Given the description of an element on the screen output the (x, y) to click on. 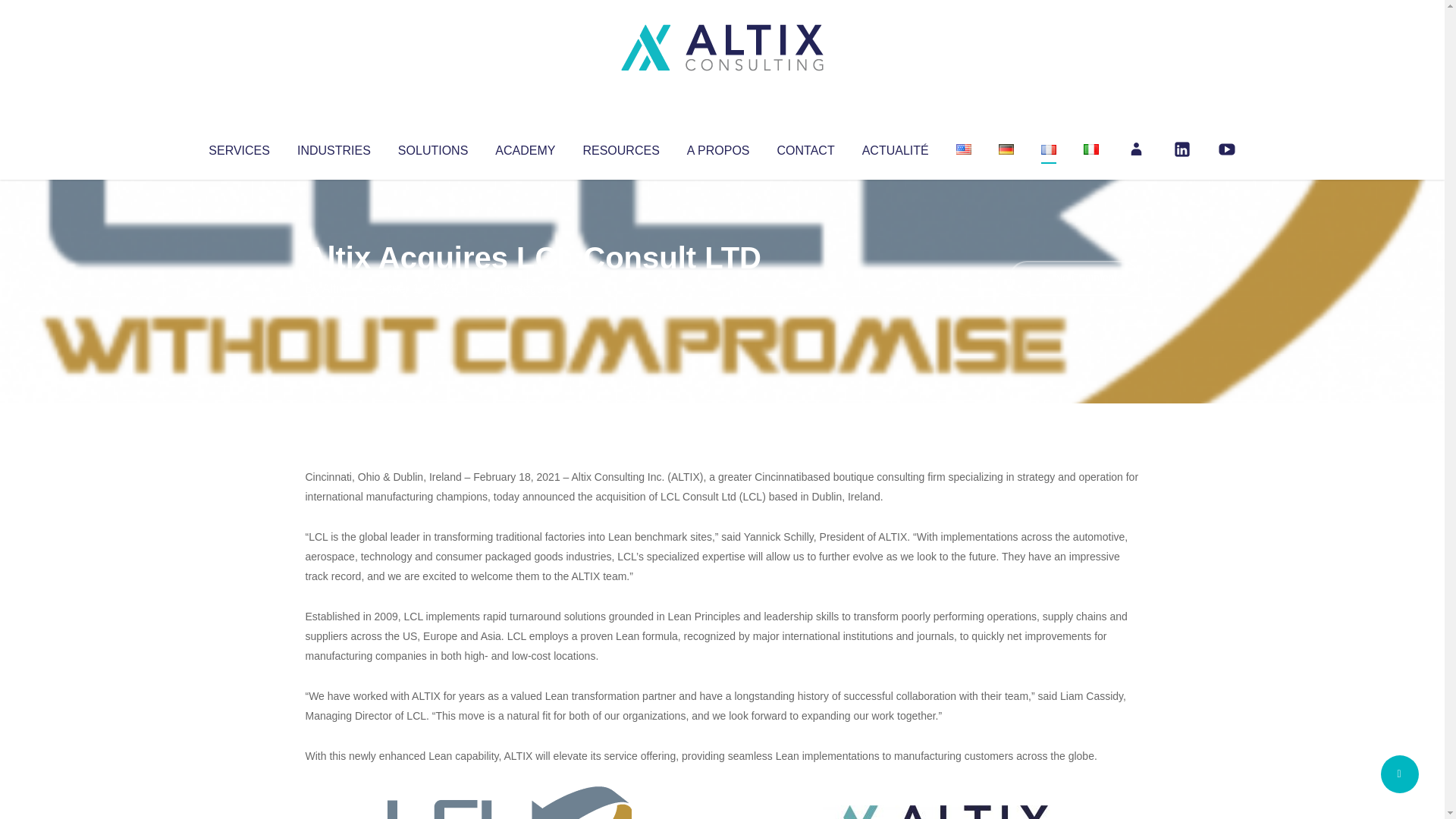
ACADEMY (524, 146)
SOLUTIONS (432, 146)
Articles par Altix (333, 287)
RESOURCES (620, 146)
SERVICES (238, 146)
No Comments (1073, 278)
A PROPOS (718, 146)
Altix (333, 287)
INDUSTRIES (334, 146)
Uncategorized (530, 287)
